Given the description of an element on the screen output the (x, y) to click on. 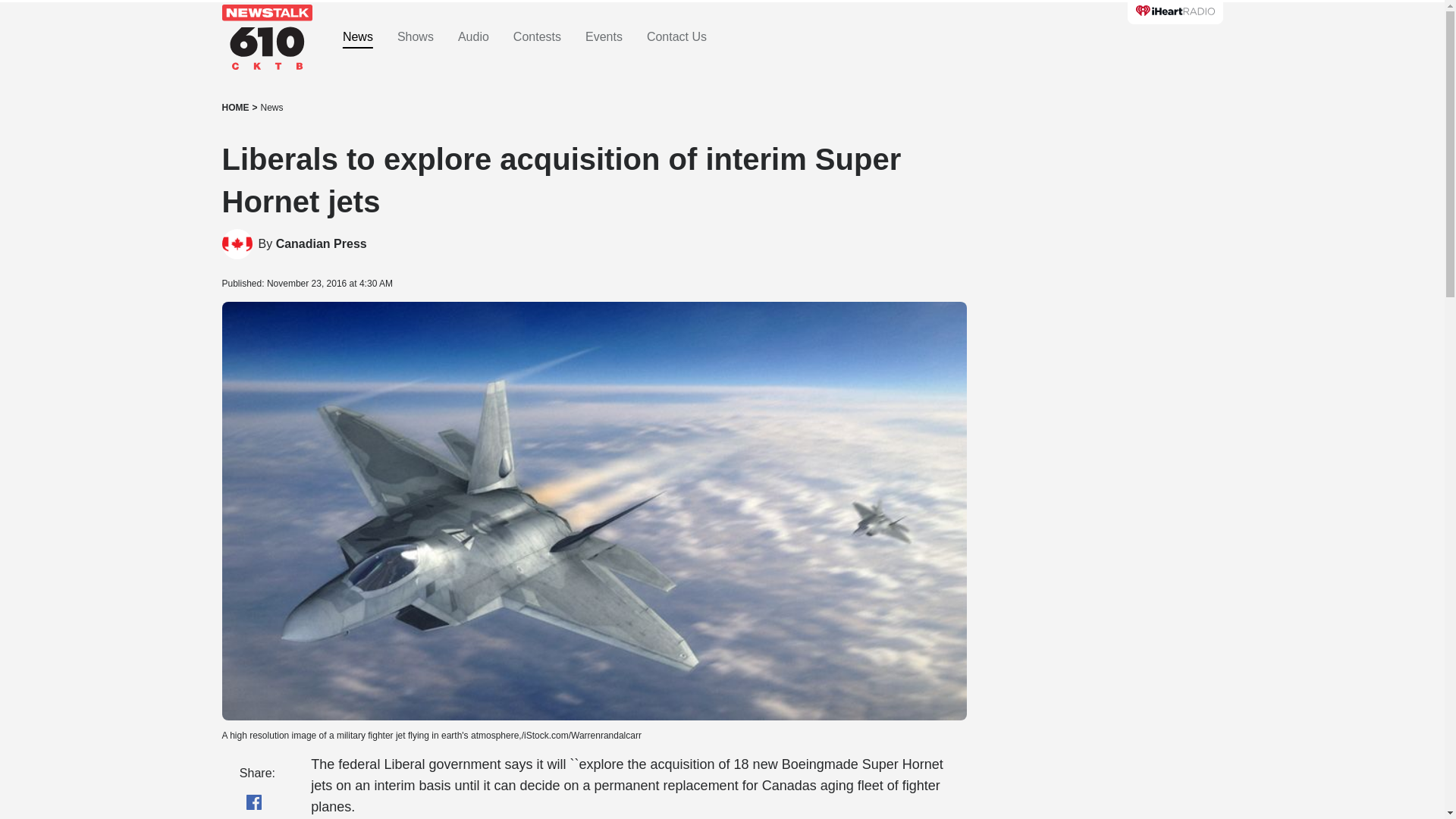
HOME (234, 107)
Contests (536, 37)
Canadian Press (321, 243)
News (271, 107)
Canadian Press (236, 244)
Contact Us (676, 37)
Canadian Press (321, 243)
